Given the description of an element on the screen output the (x, y) to click on. 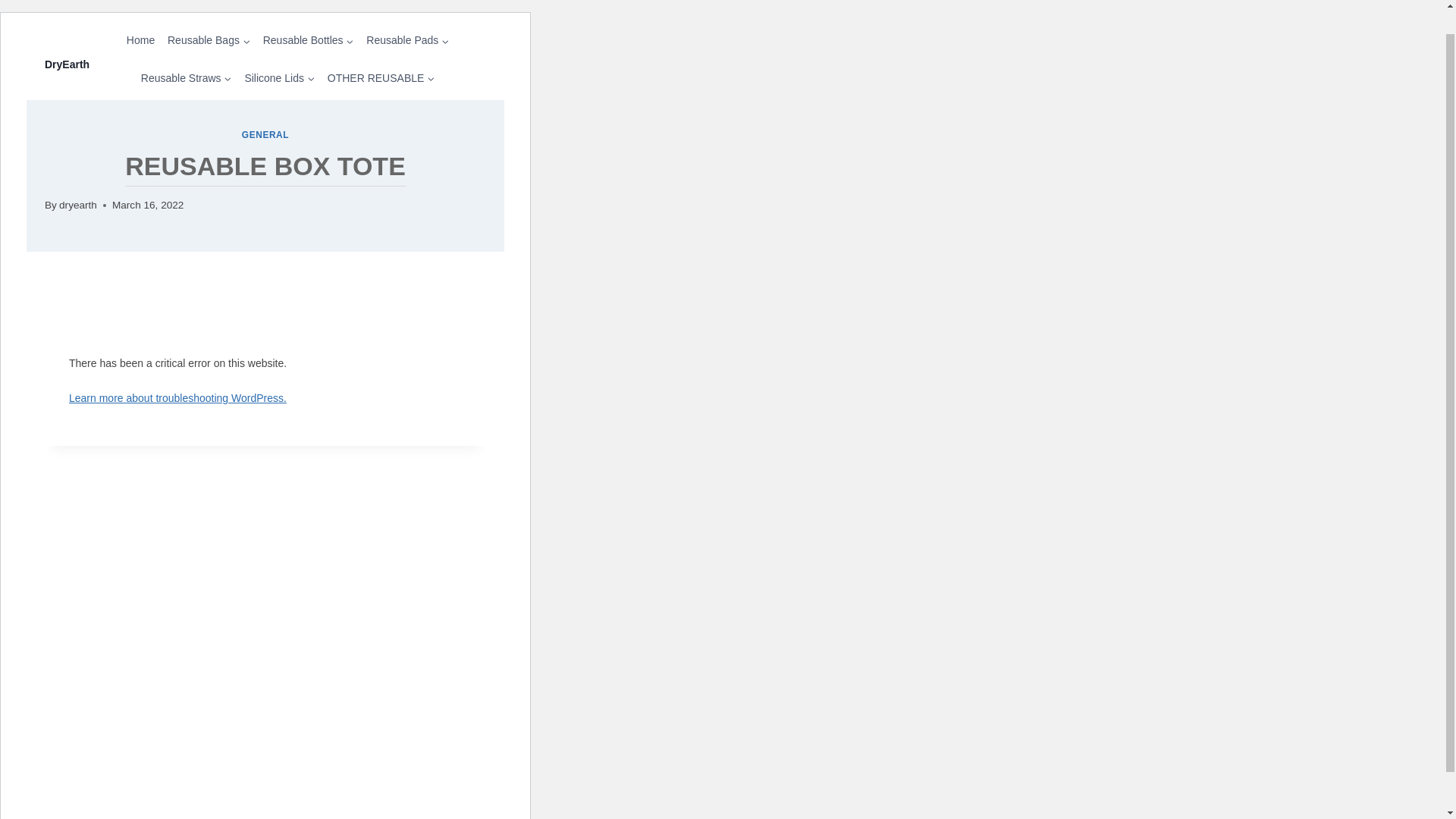
OTHER REUSABLE (380, 77)
Reusable Bottles (307, 40)
Reusable Straws (185, 77)
Reusable Bags (209, 40)
Reusable Pads (407, 40)
Silicone Lids (279, 77)
GENERAL (264, 134)
DryEarth (66, 62)
